Given the description of an element on the screen output the (x, y) to click on. 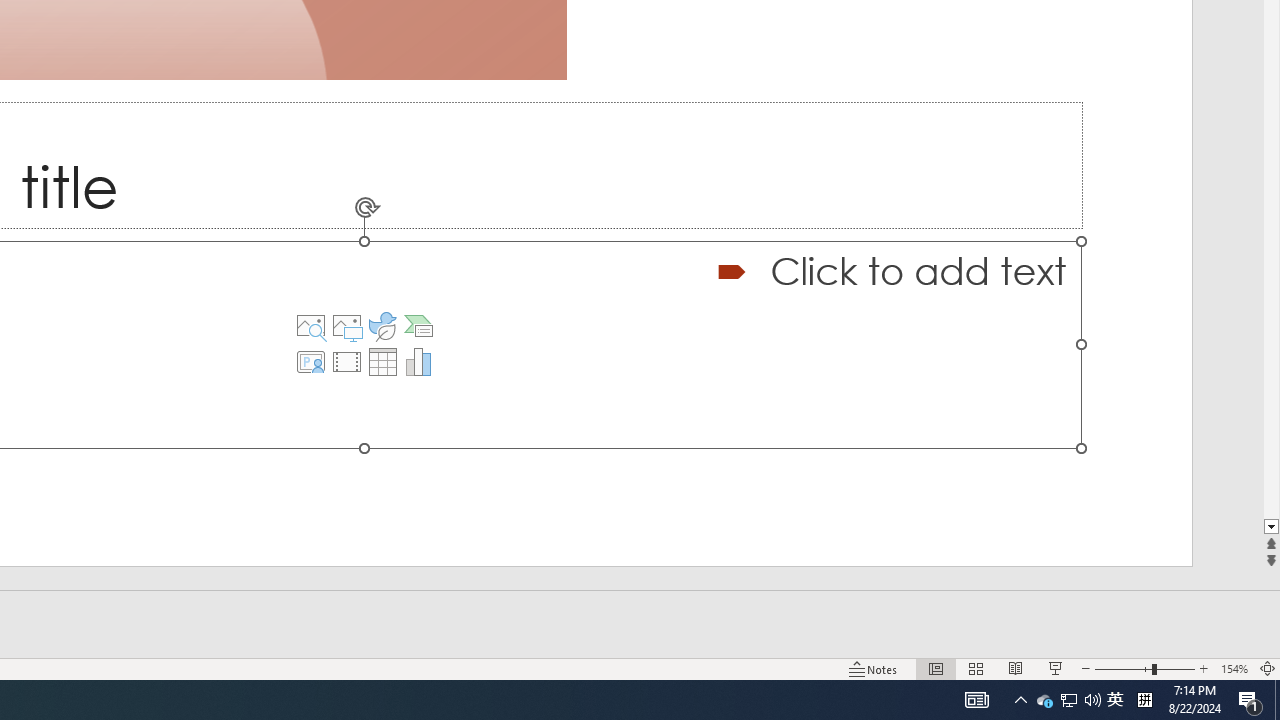
Zoom 154% (1234, 668)
